Given the description of an element on the screen output the (x, y) to click on. 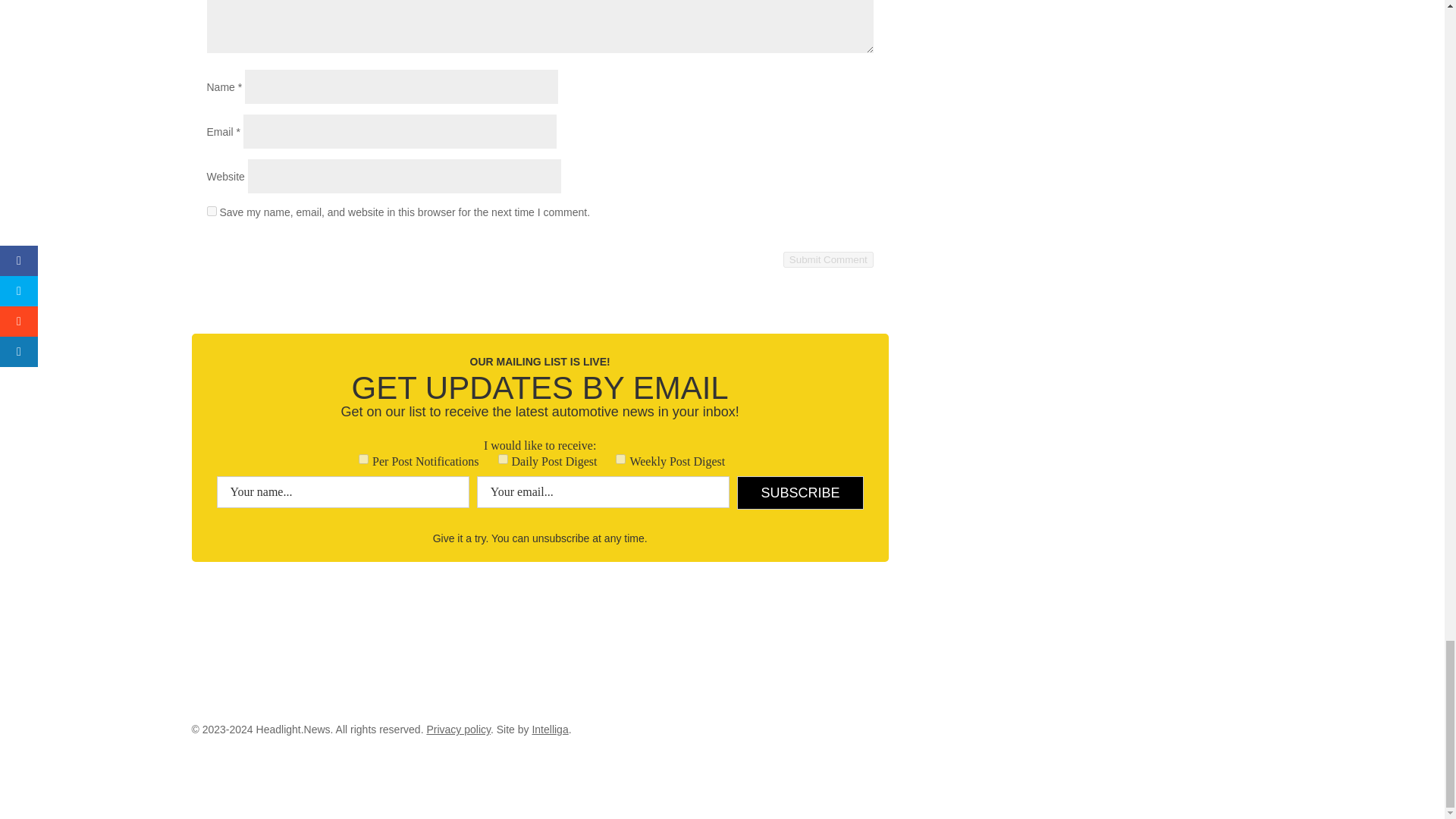
6b151b153f (502, 459)
6de6846e1c (363, 459)
41d0d300ed (620, 459)
yes (210, 211)
Submit Comment (828, 259)
Subscribe (799, 492)
Subscribe (799, 492)
